Given the description of an element on the screen output the (x, y) to click on. 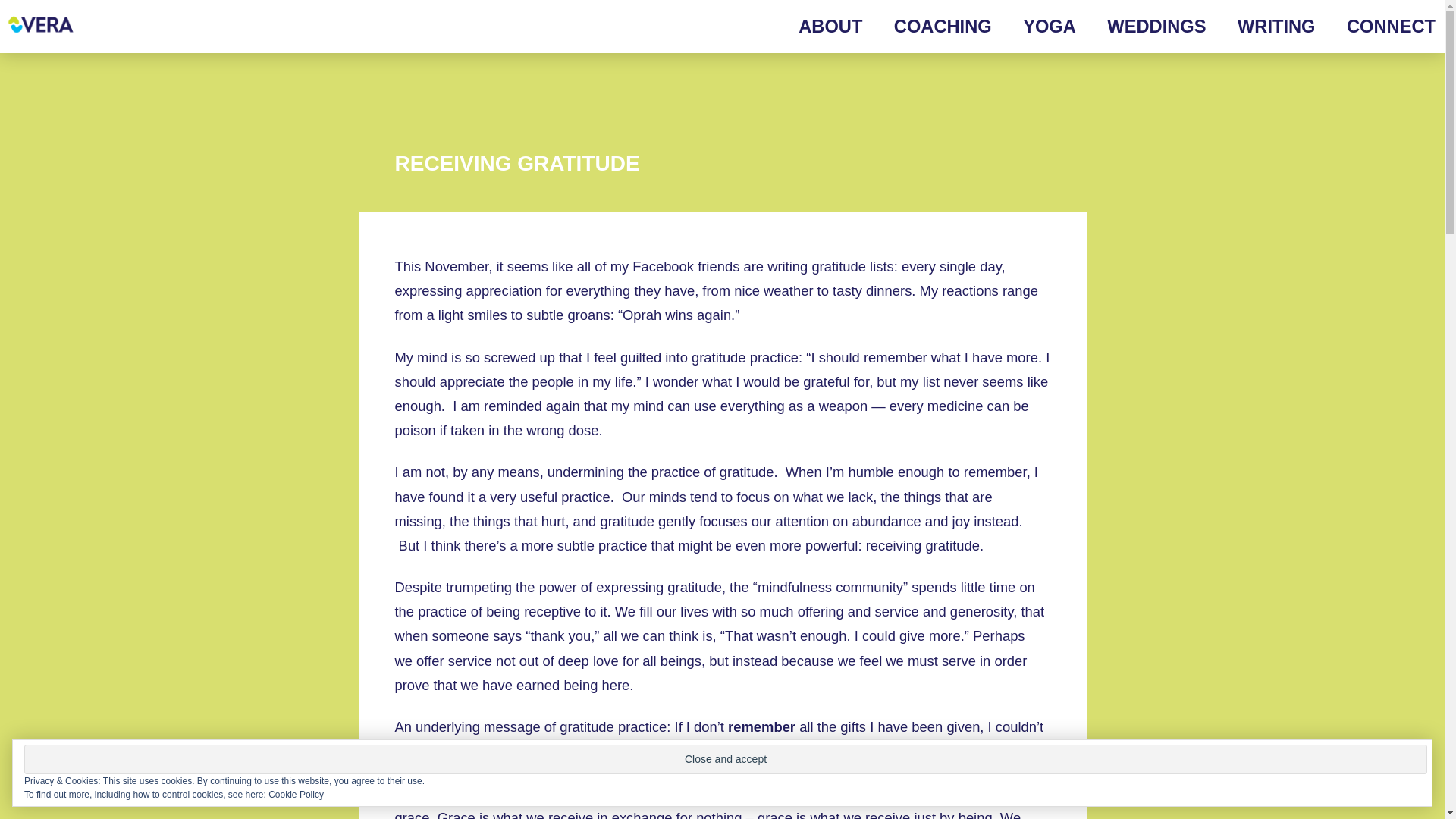
COACHING (926, 26)
Close and accept (725, 758)
ABOUT (815, 26)
YOGA (1033, 26)
CONNECT (1375, 26)
Close and accept (725, 758)
WRITING (1261, 26)
Cookie Policy (295, 794)
WEDDINGS (1141, 26)
